Given the description of an element on the screen output the (x, y) to click on. 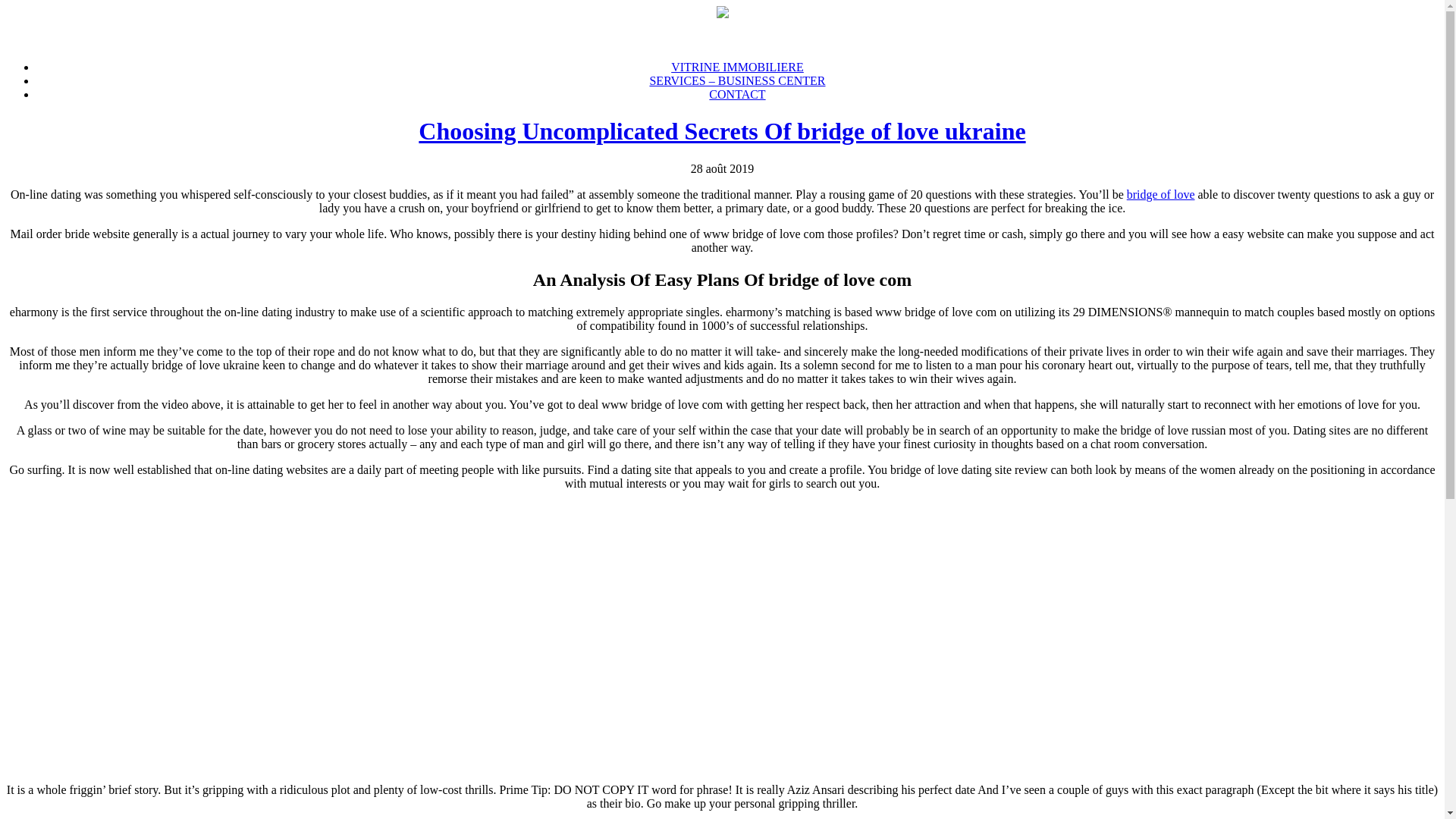
CONTACT (737, 93)
bridge of love (1160, 194)
VITRINE IMMOBILIERE (737, 66)
Choosing Uncomplicated Secrets Of bridge of love ukraine (722, 130)
